Given the description of an element on the screen output the (x, y) to click on. 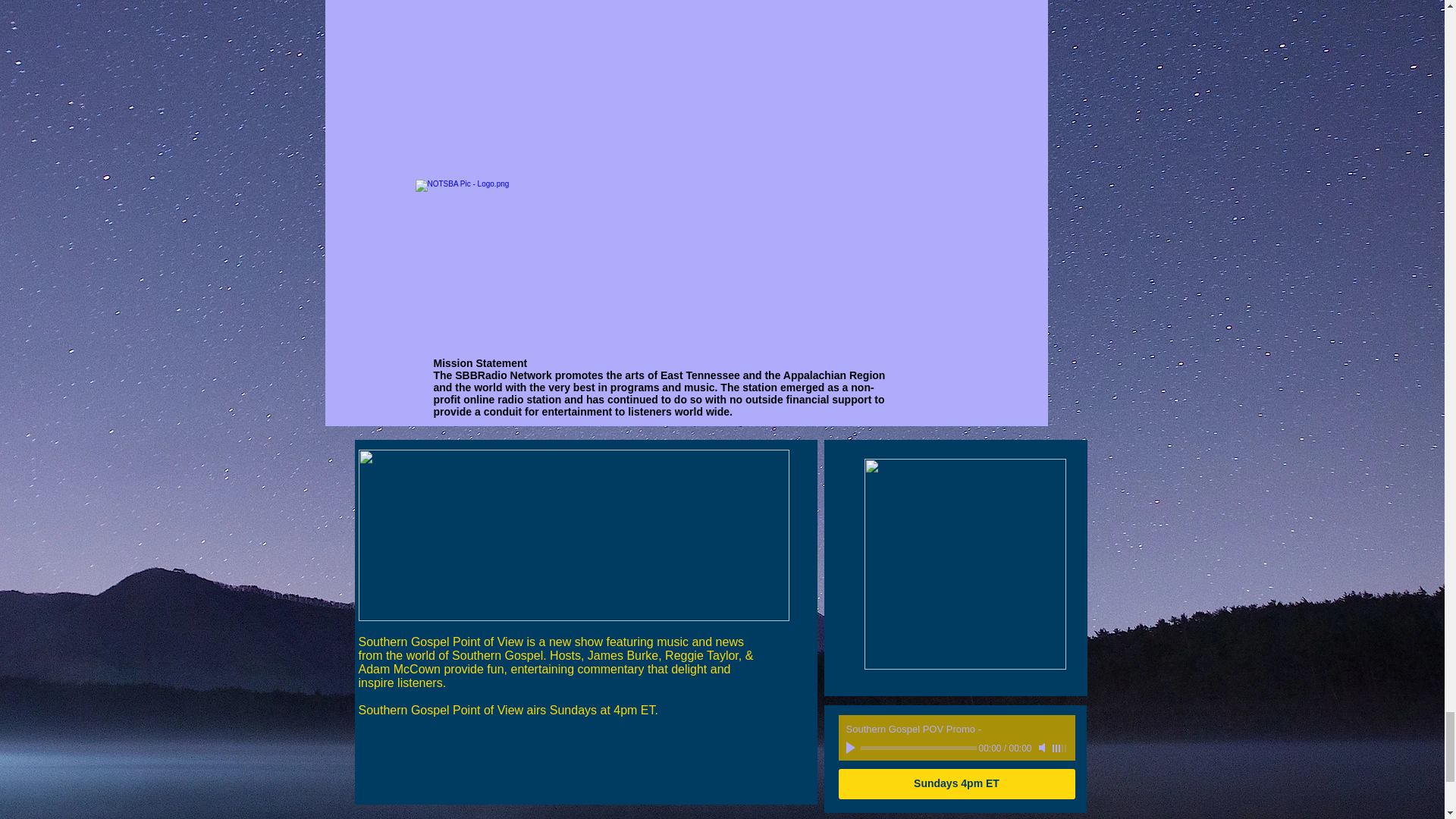
0 (917, 748)
